Given the description of an element on the screen output the (x, y) to click on. 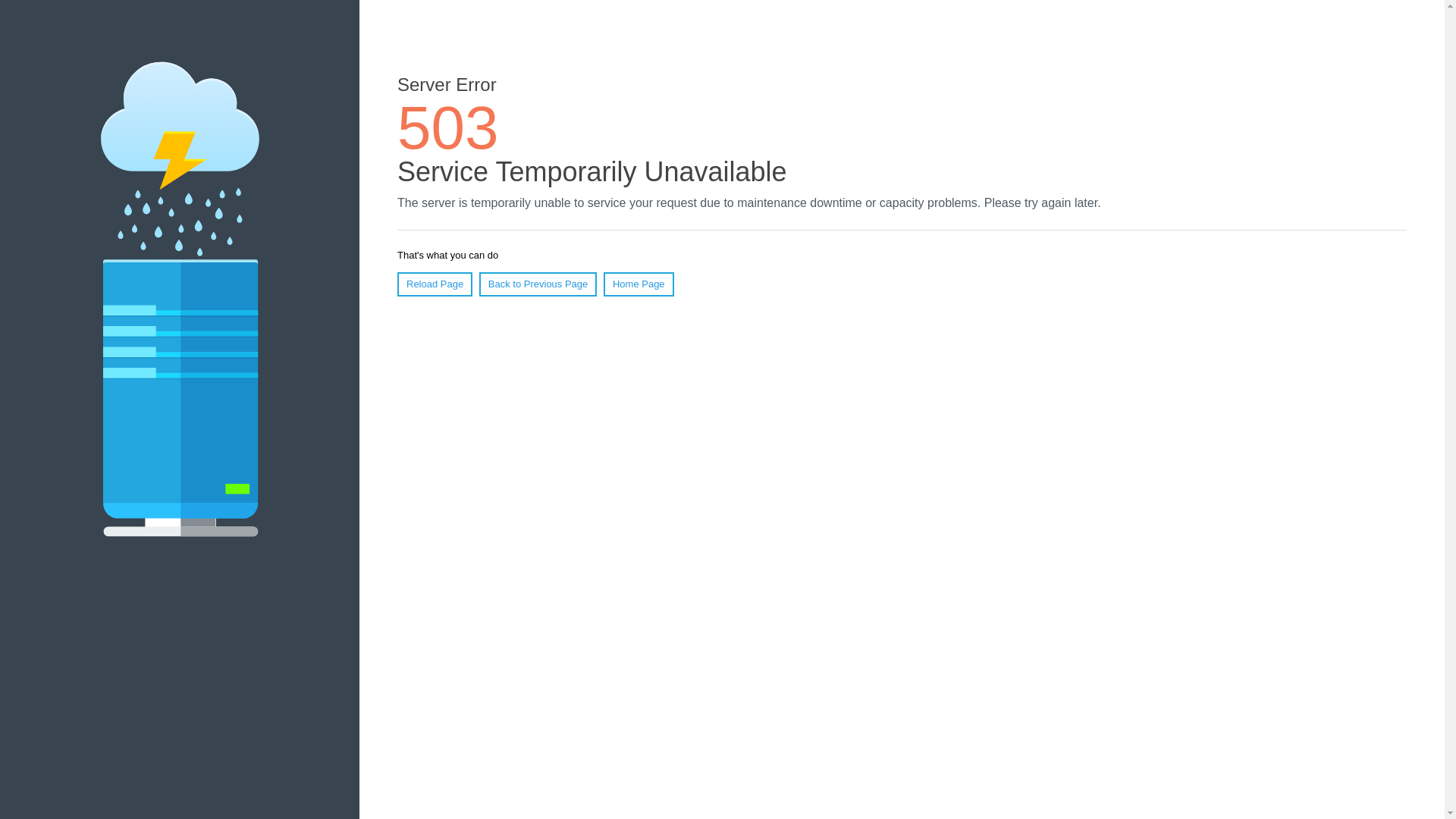
Home Page Element type: text (638, 284)
Reload Page Element type: text (434, 284)
Back to Previous Page Element type: text (538, 284)
